Given the description of an element on the screen output the (x, y) to click on. 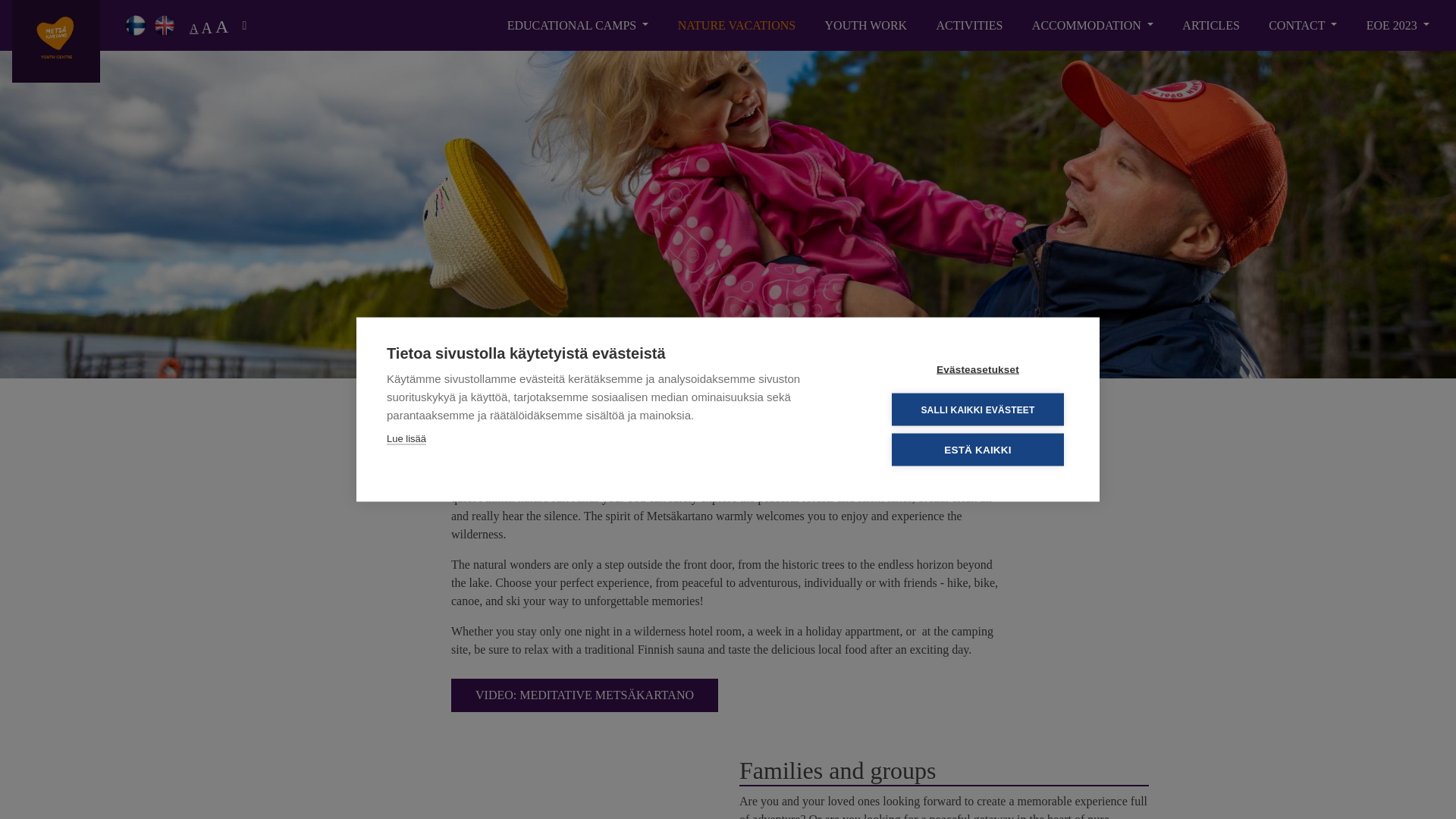
EDUCATIONAL CAMPS (578, 25)
Switch to language English (164, 24)
Back to frontpage (55, 40)
Switch to language Suomi (135, 24)
